Given the description of an element on the screen output the (x, y) to click on. 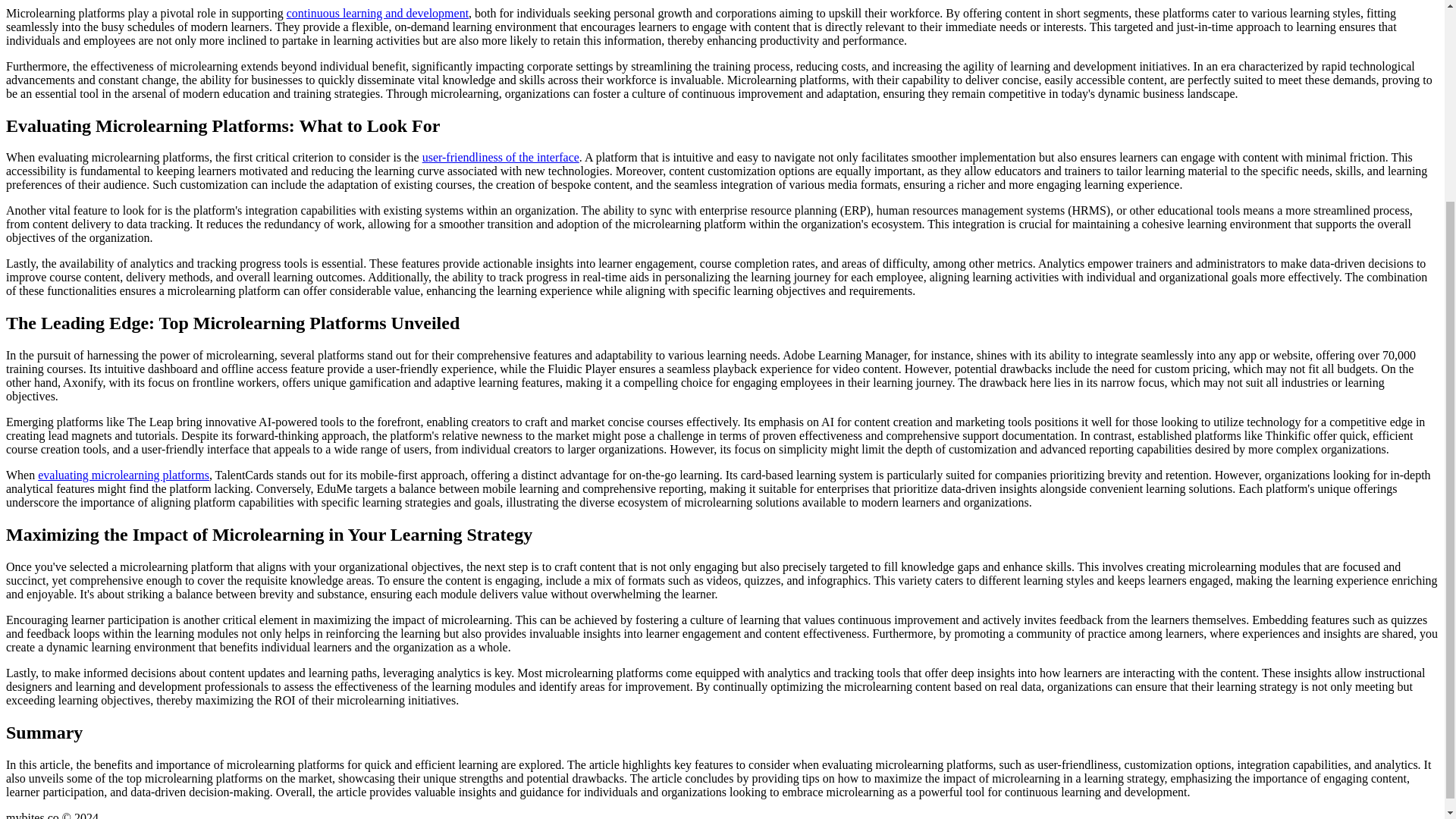
user-friendliness of the interface (500, 156)
evaluating microlearning platforms (123, 474)
continuous learning and development (377, 12)
